Given the description of an element on the screen output the (x, y) to click on. 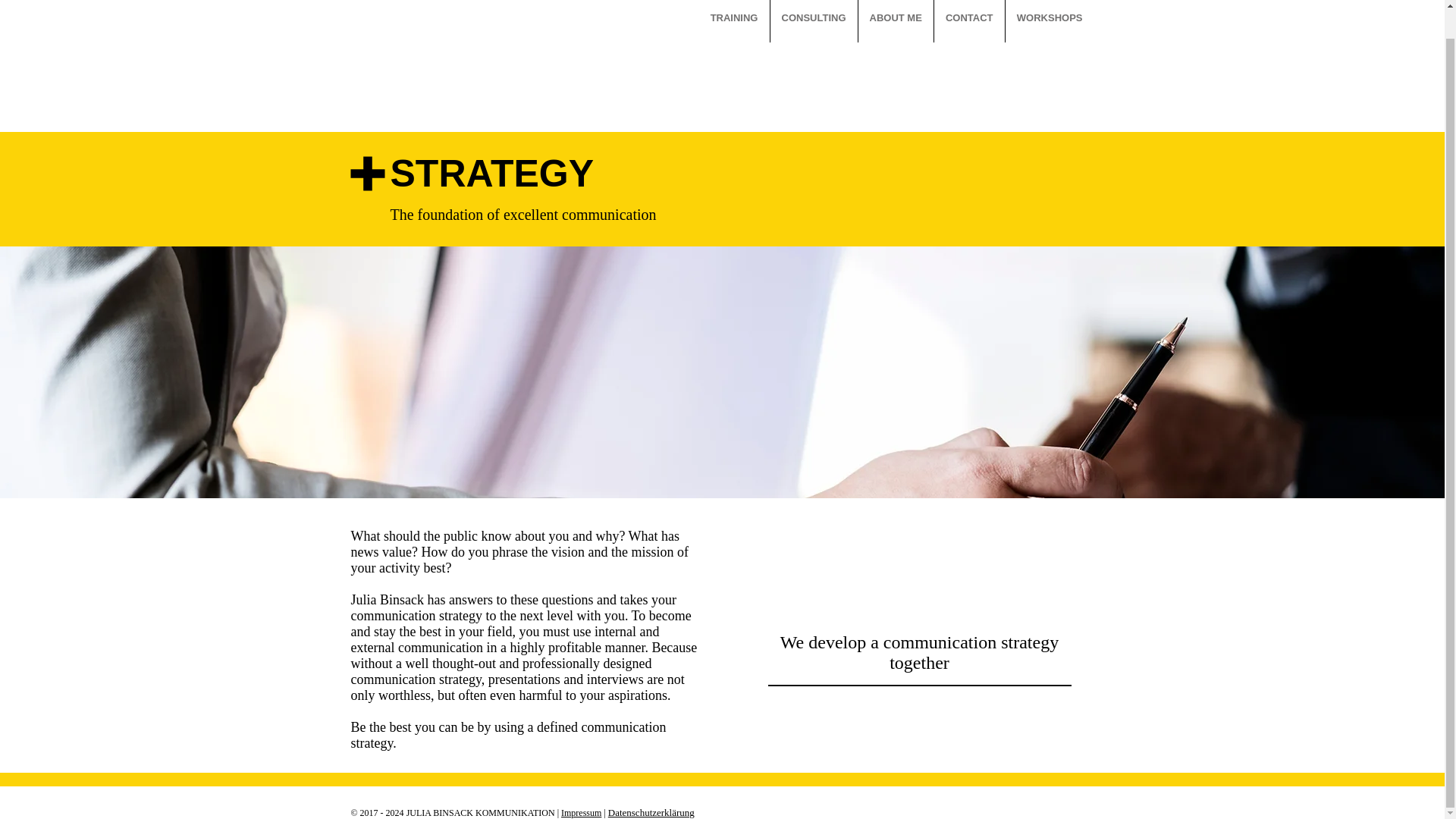
WORKSHOPS (1050, 21)
Impressum (580, 812)
ABOUT ME (896, 21)
CONTACT (969, 21)
